Given the description of an element on the screen output the (x, y) to click on. 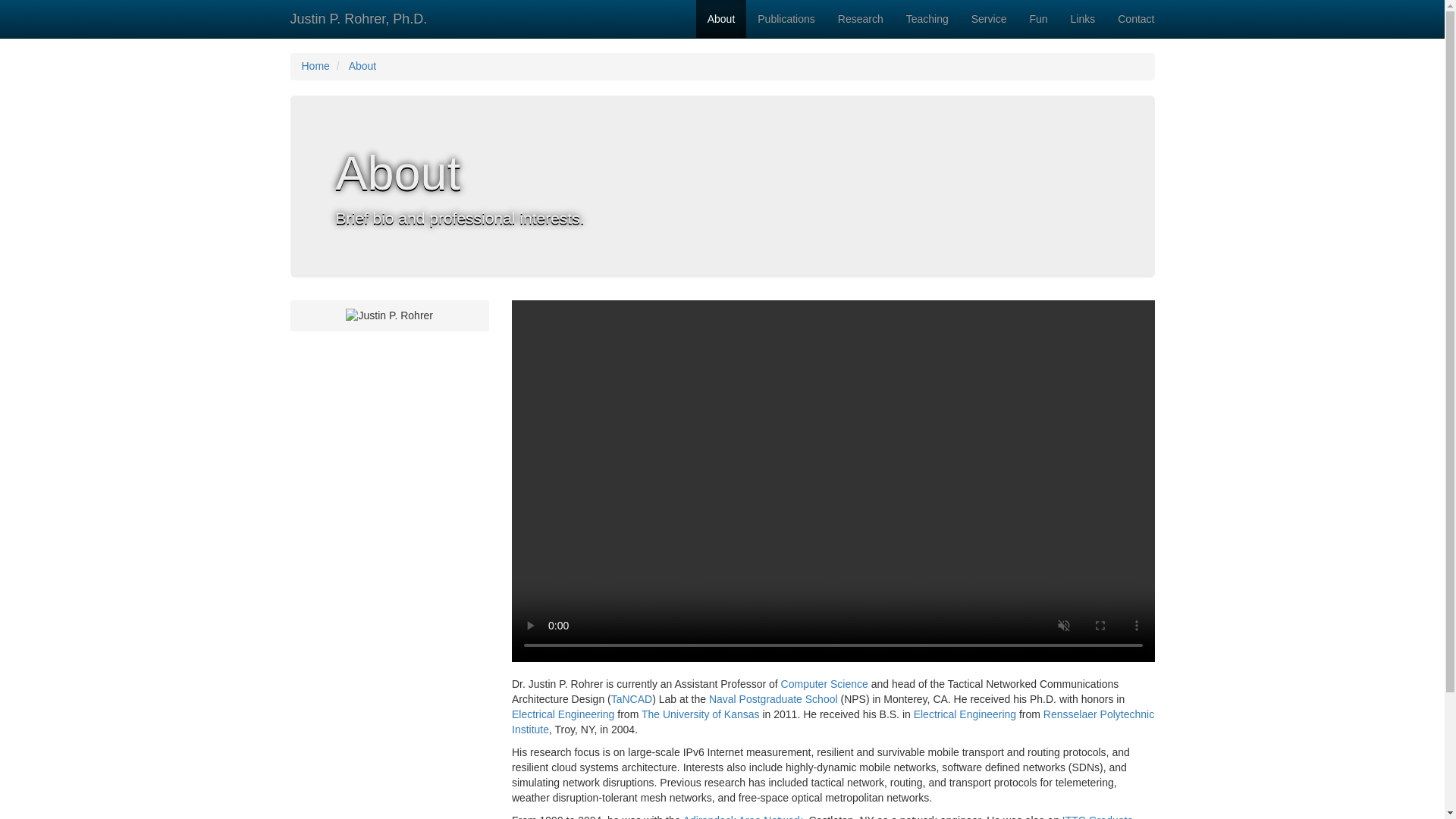
About (720, 18)
TaNCAD (631, 698)
Justin P. Rohrer, Ph.D. (359, 18)
Computer Science (823, 684)
Electrical Engineering (965, 714)
Teaching (927, 18)
The University of Kansas (701, 714)
Electrical Engineering (563, 714)
Adirondack Area Network (742, 816)
Links (1082, 18)
Research (861, 18)
Home (315, 65)
Naval Postgraduate School (773, 698)
Contact (1136, 18)
